Given the description of an element on the screen output the (x, y) to click on. 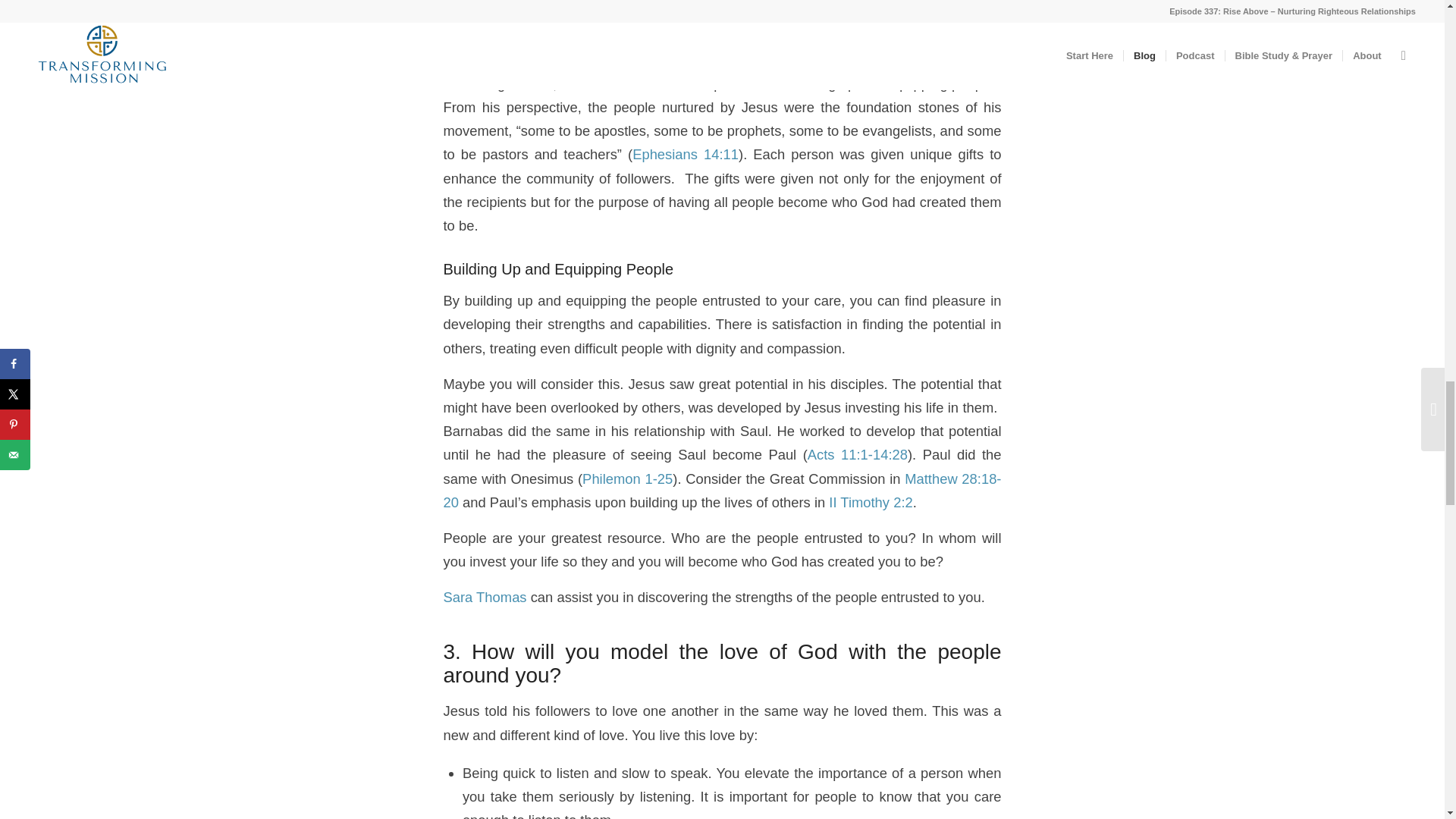
Ephesians 4:13 (930, 48)
Ephesians 14:11 (684, 154)
Matthew 28:18-20 (721, 490)
Philemon 1-25 (627, 478)
Sara Thomas (483, 596)
II Timothy 2:2 (870, 502)
Acts 11:1-14:28 (857, 454)
